Given the description of an element on the screen output the (x, y) to click on. 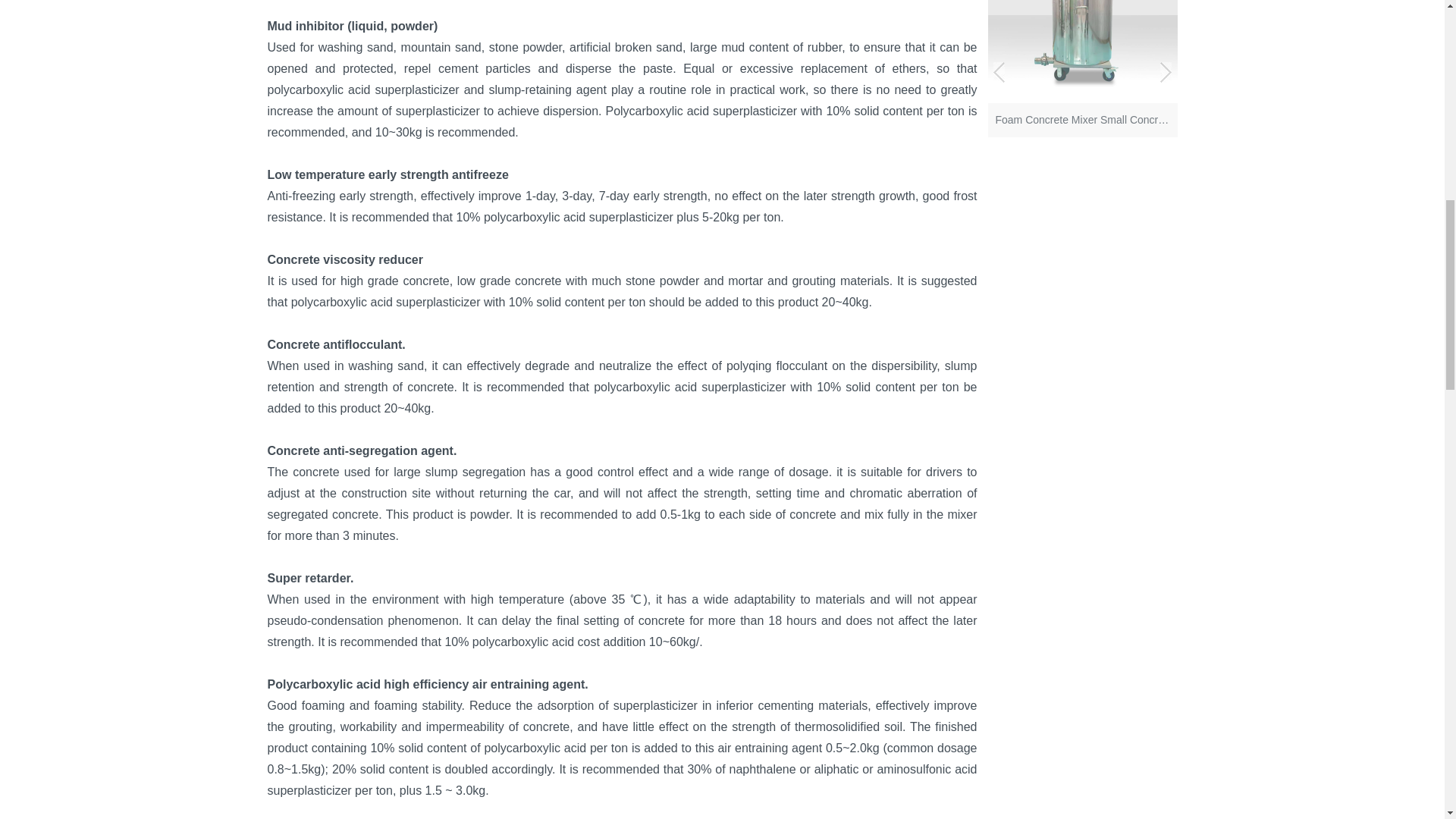
Foam Concrete Mixer Small Concrete Machine Mixer (1081, 114)
Foam Concrete Mixer Small Concrete Machine Mixer (1081, 51)
